Given the description of an element on the screen output the (x, y) to click on. 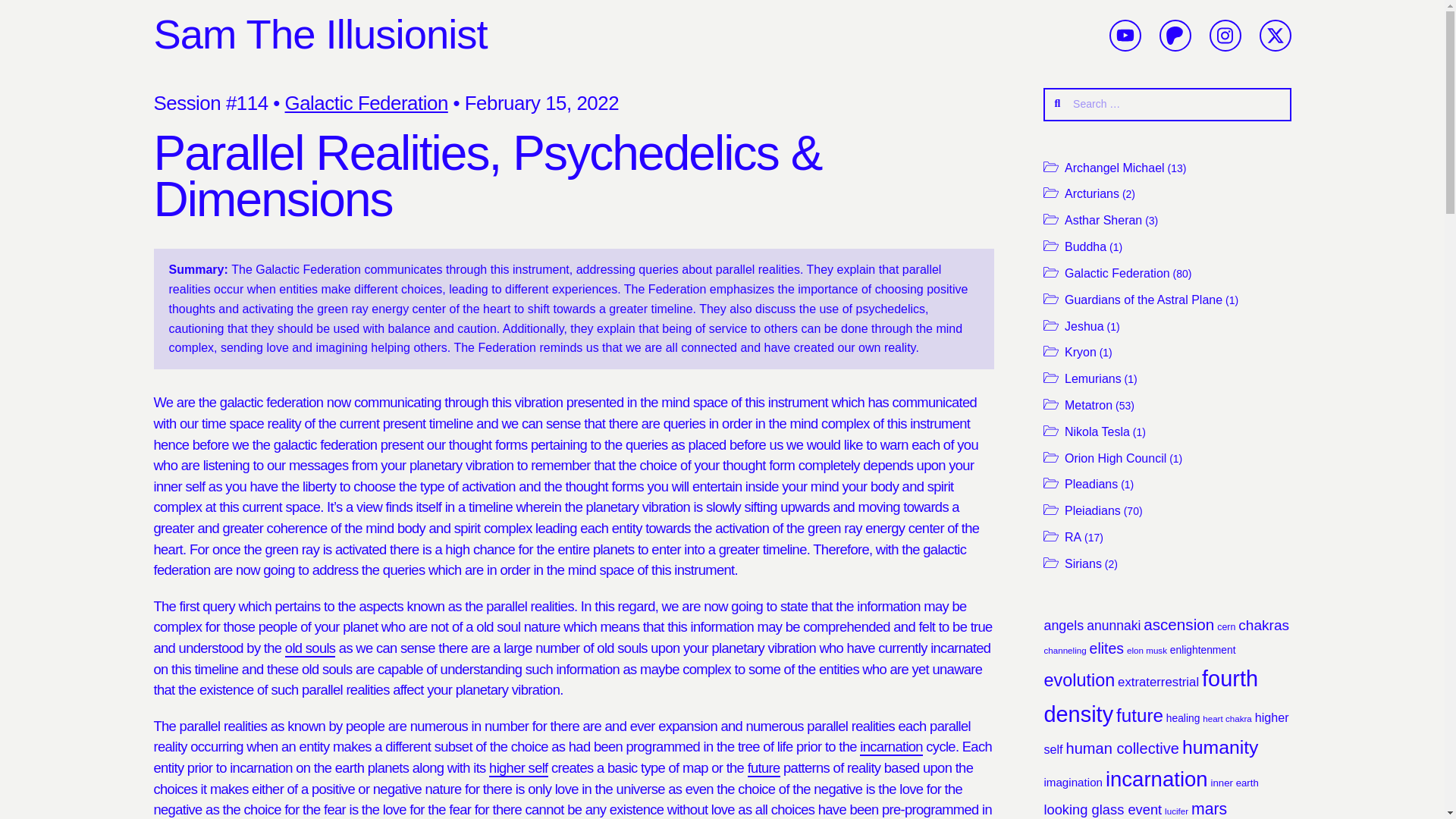
Asthar Sheran (1102, 219)
February 15, 2022 (541, 102)
Arcturians (1091, 193)
higher self (518, 768)
y (1125, 35)
Archangel Michael (1114, 167)
old souls (310, 648)
Galactic Federation (1117, 273)
Galactic Federation (366, 102)
incarnation (891, 746)
Buddha (1085, 246)
p (1174, 35)
future (764, 768)
i (1225, 35)
